Given the description of an element on the screen output the (x, y) to click on. 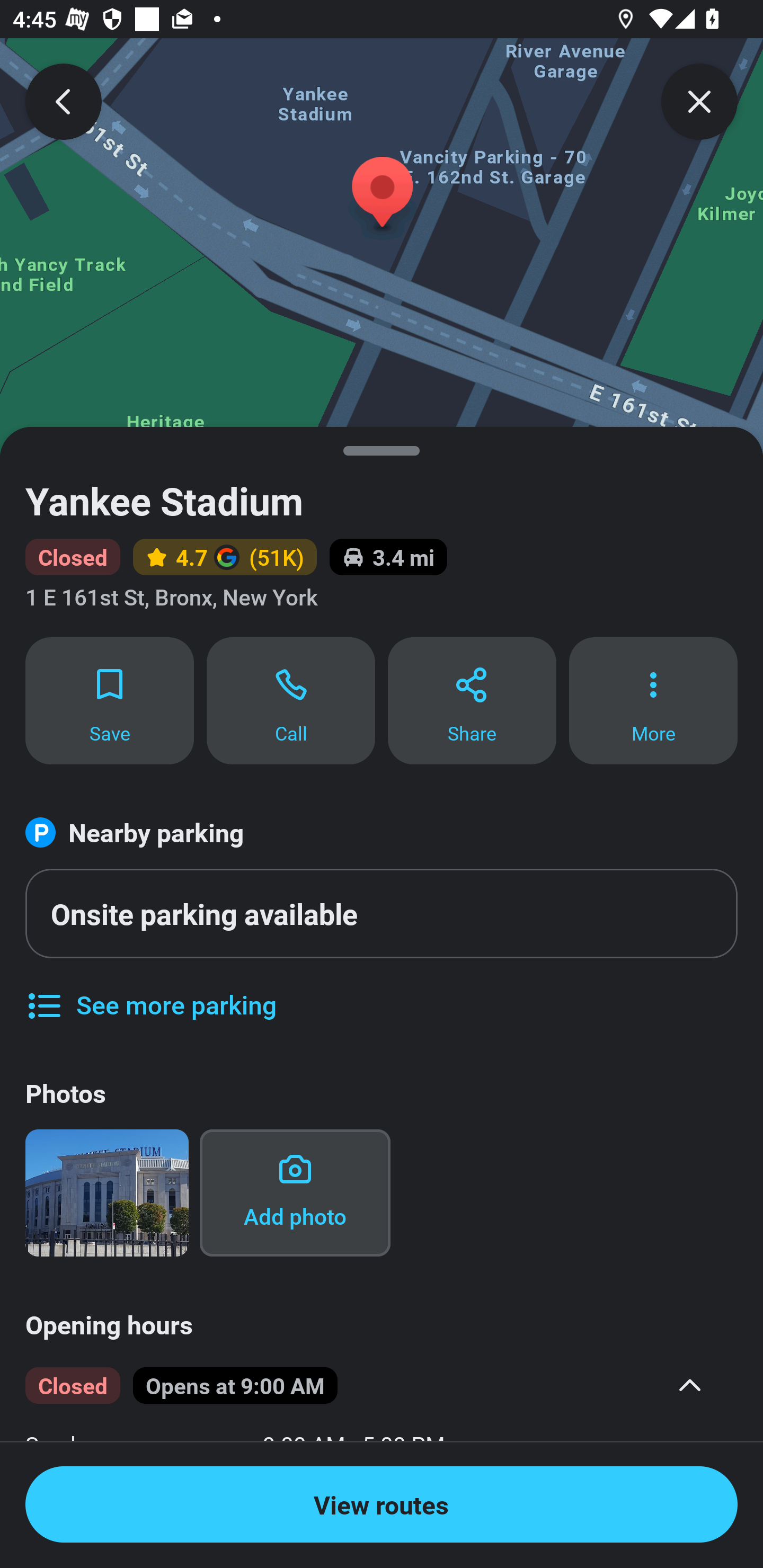
Save (109, 700)
Call (290, 700)
Share (471, 700)
More (653, 700)
See more parking (150, 991)
Add photo (294, 1191)
Closed Opens at 9:00 AM (368, 1384)
View routes (381, 1504)
